Given the description of an element on the screen output the (x, y) to click on. 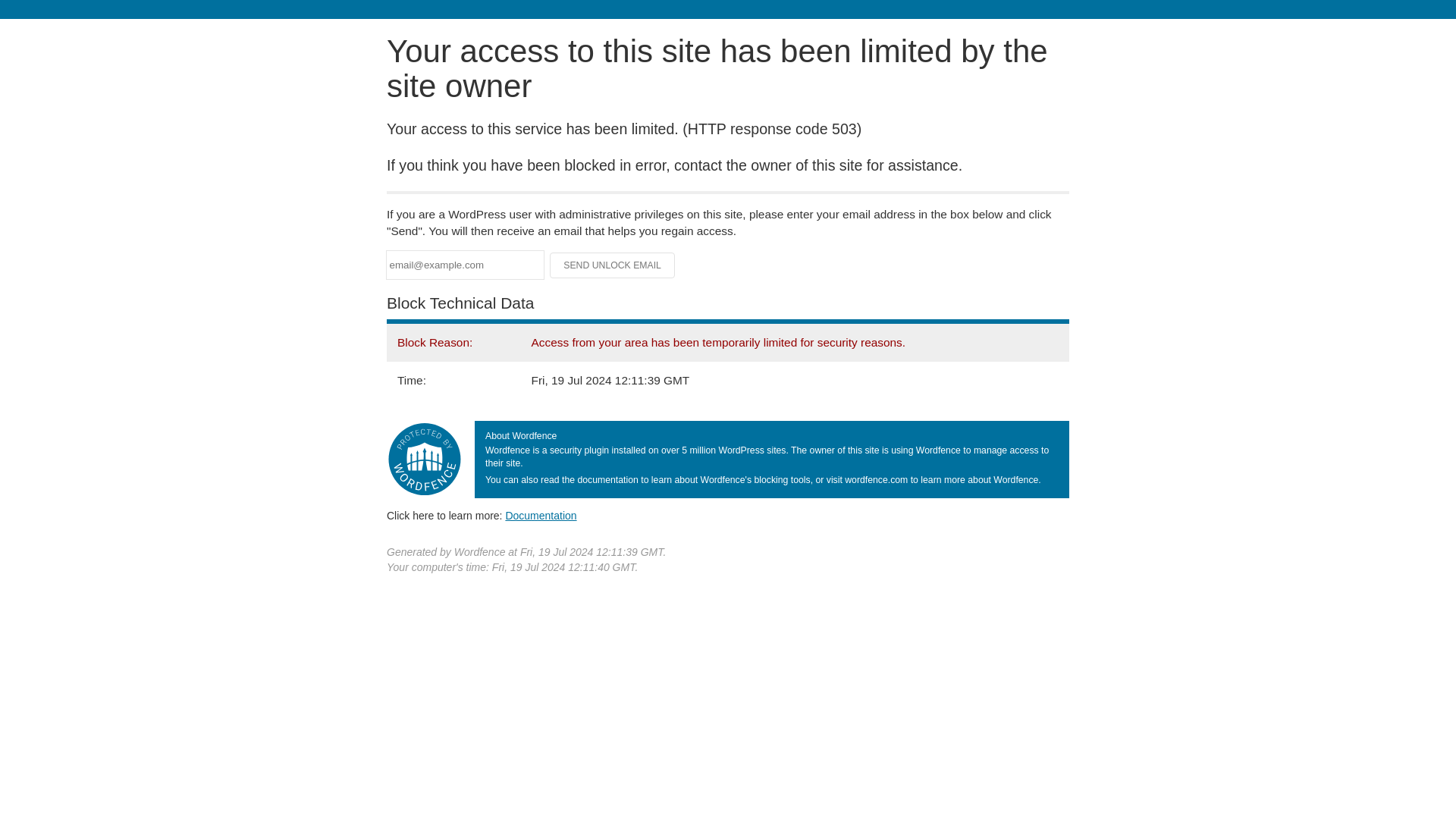
Documentation (540, 515)
Send Unlock Email (612, 265)
Send Unlock Email (612, 265)
